Given the description of an element on the screen output the (x, y) to click on. 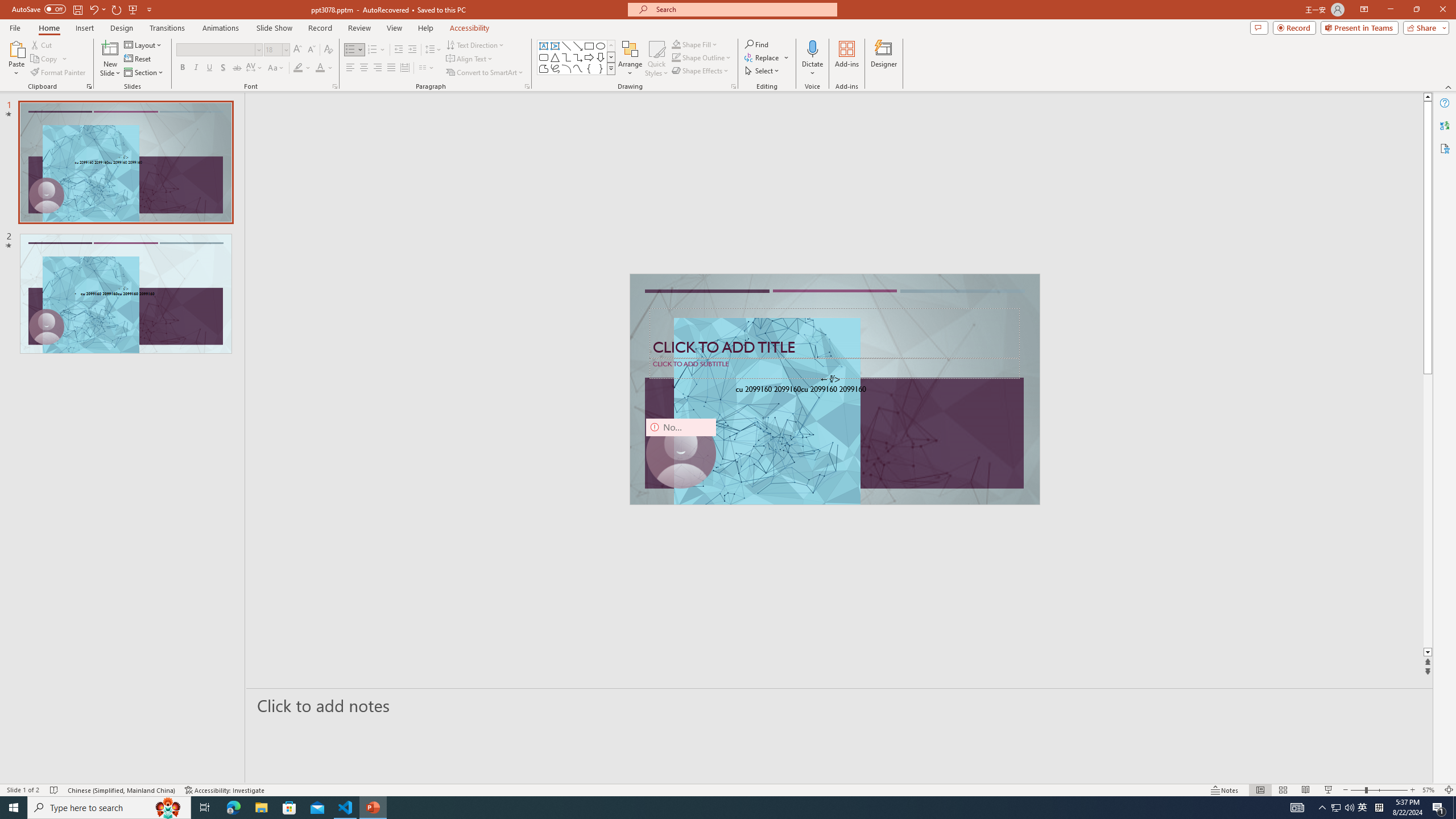
Class: MsoCommandBar (728, 789)
Underline (209, 67)
Line (566, 45)
TextBox 61 (833, 390)
Curve (577, 68)
Line Spacing (433, 49)
Arc (566, 68)
Reset (138, 58)
Connector: Elbow Arrow (577, 57)
Format Object... (733, 85)
Freeform: Scribble (554, 68)
Line Arrow (577, 45)
Numbering (376, 49)
